Given the description of an element on the screen output the (x, y) to click on. 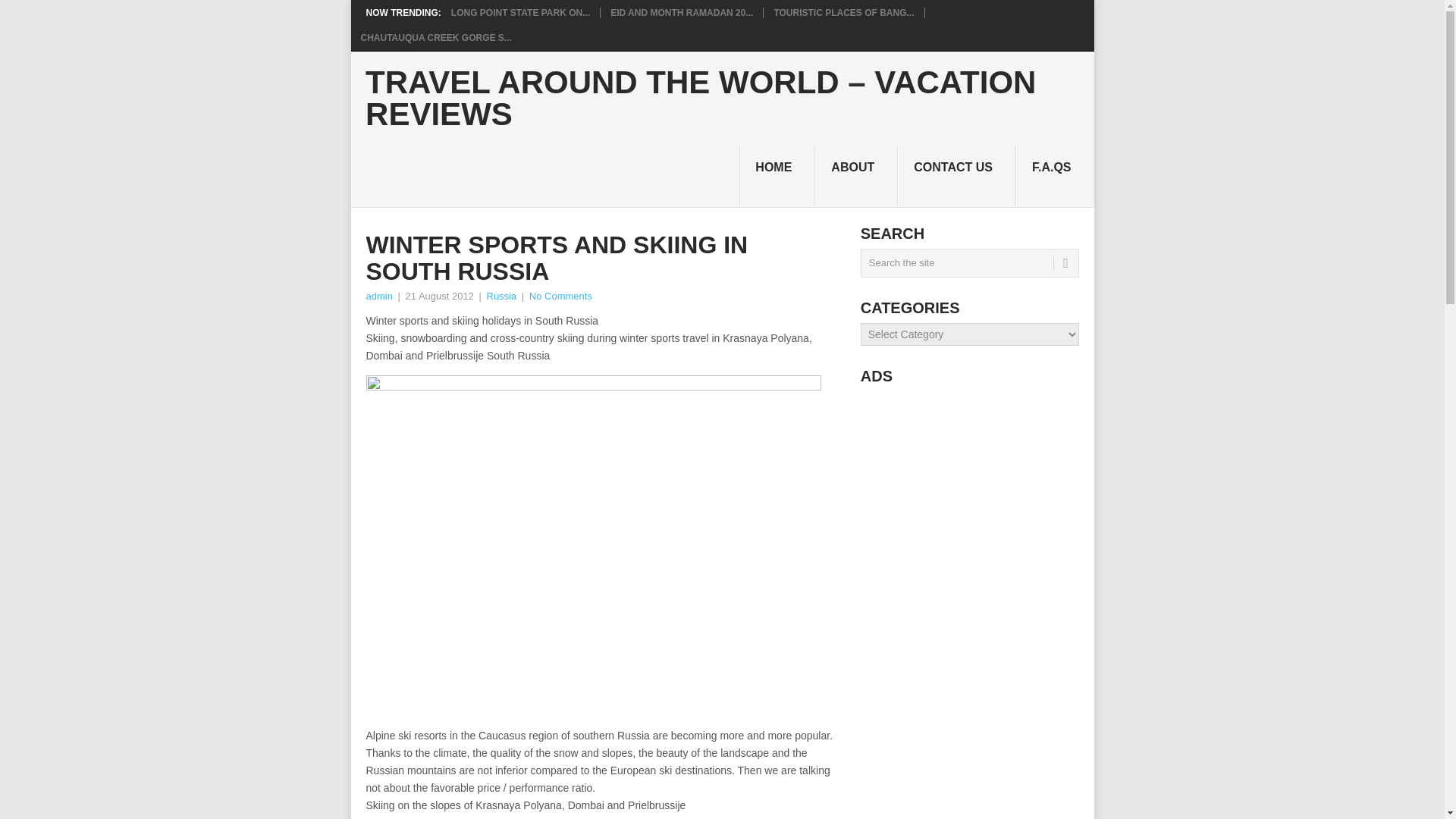
Eid and Month Ramadan 2016 Muslim Greetings Cards (681, 12)
CONTACT US (957, 176)
ABOUT (856, 176)
Touristic Places of Bangkok! (843, 12)
F.A.QS (1055, 176)
CHAUTAUQUA CREEK GORGE S... (436, 37)
No Comments (560, 296)
HOME (777, 176)
